Given the description of an element on the screen output the (x, y) to click on. 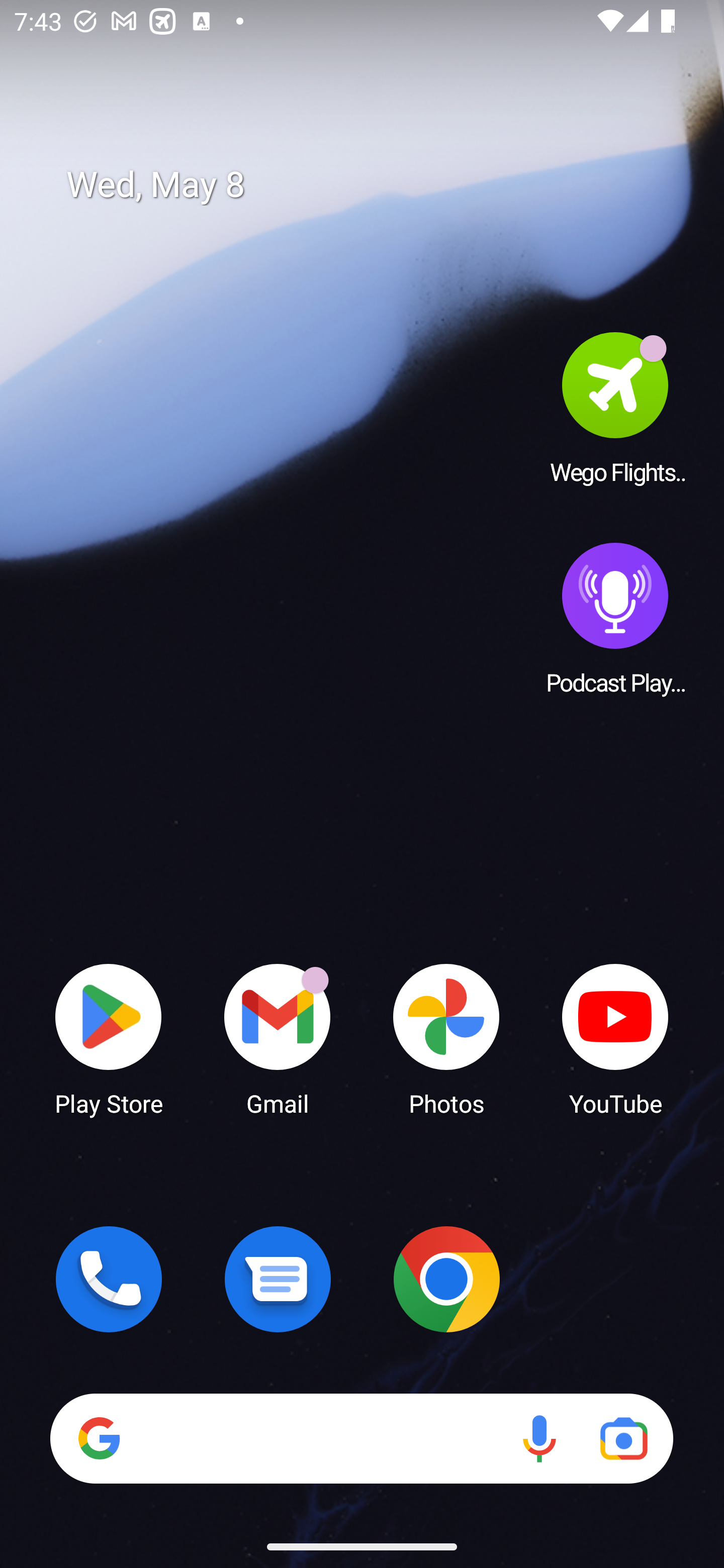
Wed, May 8 (375, 184)
Podcast Player (615, 617)
Play Store (108, 1038)
Gmail Gmail has 17 notifications (277, 1038)
Photos (445, 1038)
YouTube (615, 1038)
Phone (108, 1279)
Messages (277, 1279)
Chrome (446, 1279)
Voice search (539, 1438)
Google Lens (623, 1438)
